Given the description of an element on the screen output the (x, y) to click on. 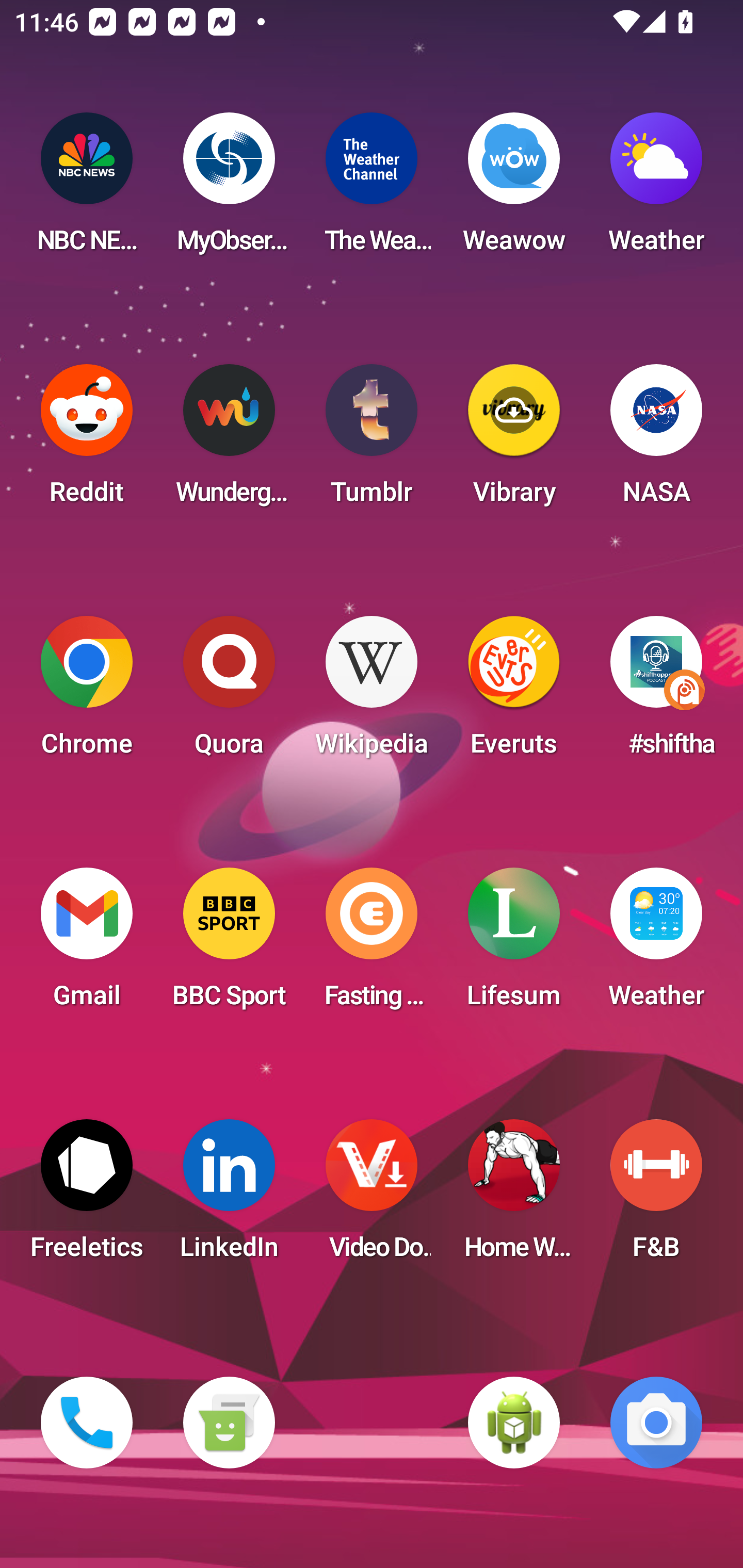
NBC NEWS (86, 188)
MyObservatory (228, 188)
The Weather Channel (371, 188)
Weawow (513, 188)
Weather (656, 188)
Reddit (86, 440)
Wunderground (228, 440)
Tumblr (371, 440)
Vibrary (513, 440)
NASA (656, 440)
Chrome (86, 692)
Quora (228, 692)
Wikipedia (371, 692)
Everuts (513, 692)
#shifthappens in the Digital Workplace Podcast (656, 692)
Gmail (86, 943)
BBC Sport (228, 943)
Fasting Coach (371, 943)
Lifesum (513, 943)
Weather (656, 943)
Freeletics (86, 1195)
LinkedIn (228, 1195)
Video Downloader & Ace Player (371, 1195)
Home Workout (513, 1195)
F&B (656, 1195)
Phone (86, 1422)
Messaging (228, 1422)
WebView Browser Tester (513, 1422)
Camera (656, 1422)
